Given the description of an element on the screen output the (x, y) to click on. 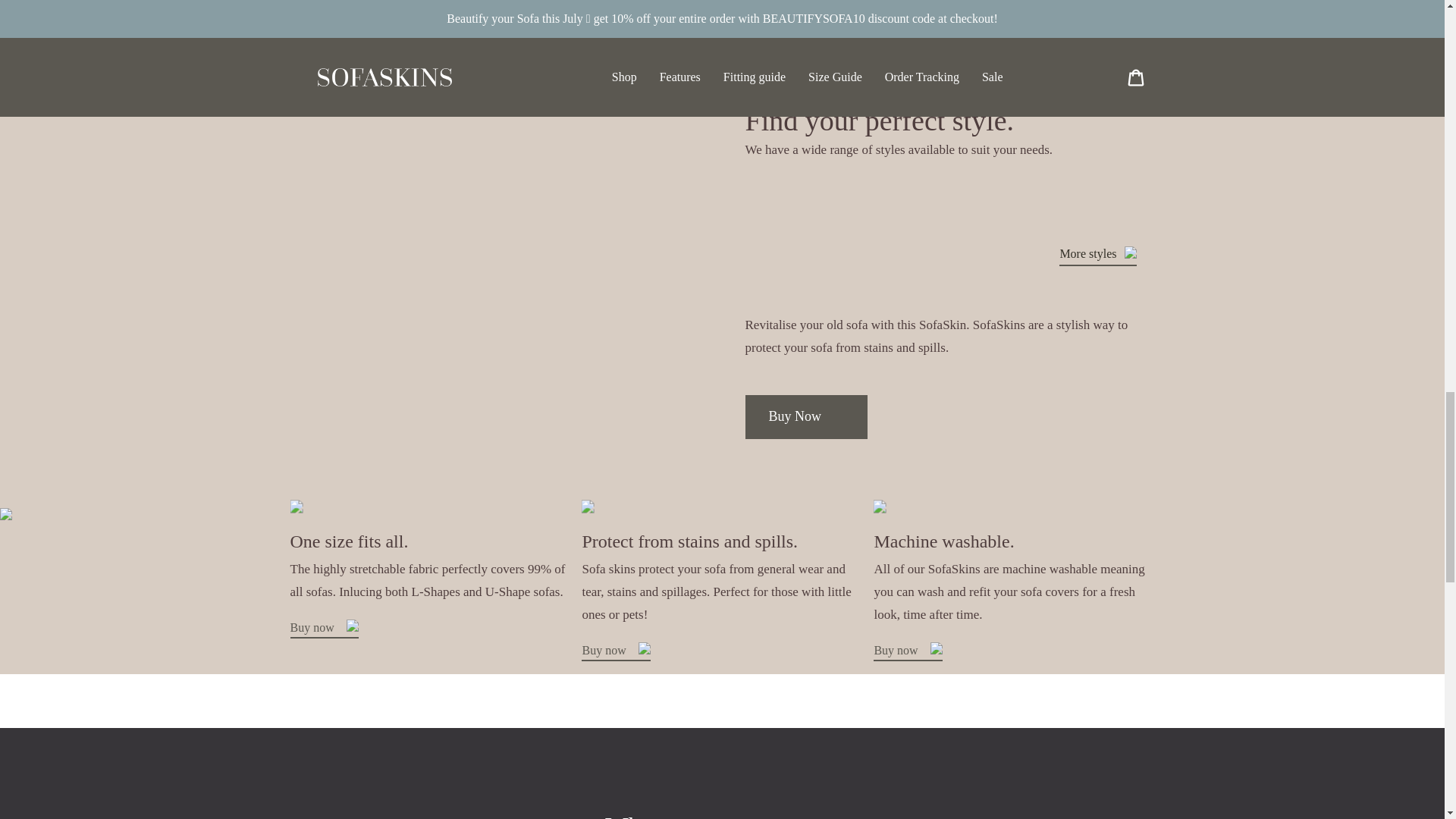
More styles (1097, 255)
Buy now (614, 651)
Buy Now (805, 416)
Buy now (907, 651)
Buy now (323, 629)
